Given the description of an element on the screen output the (x, y) to click on. 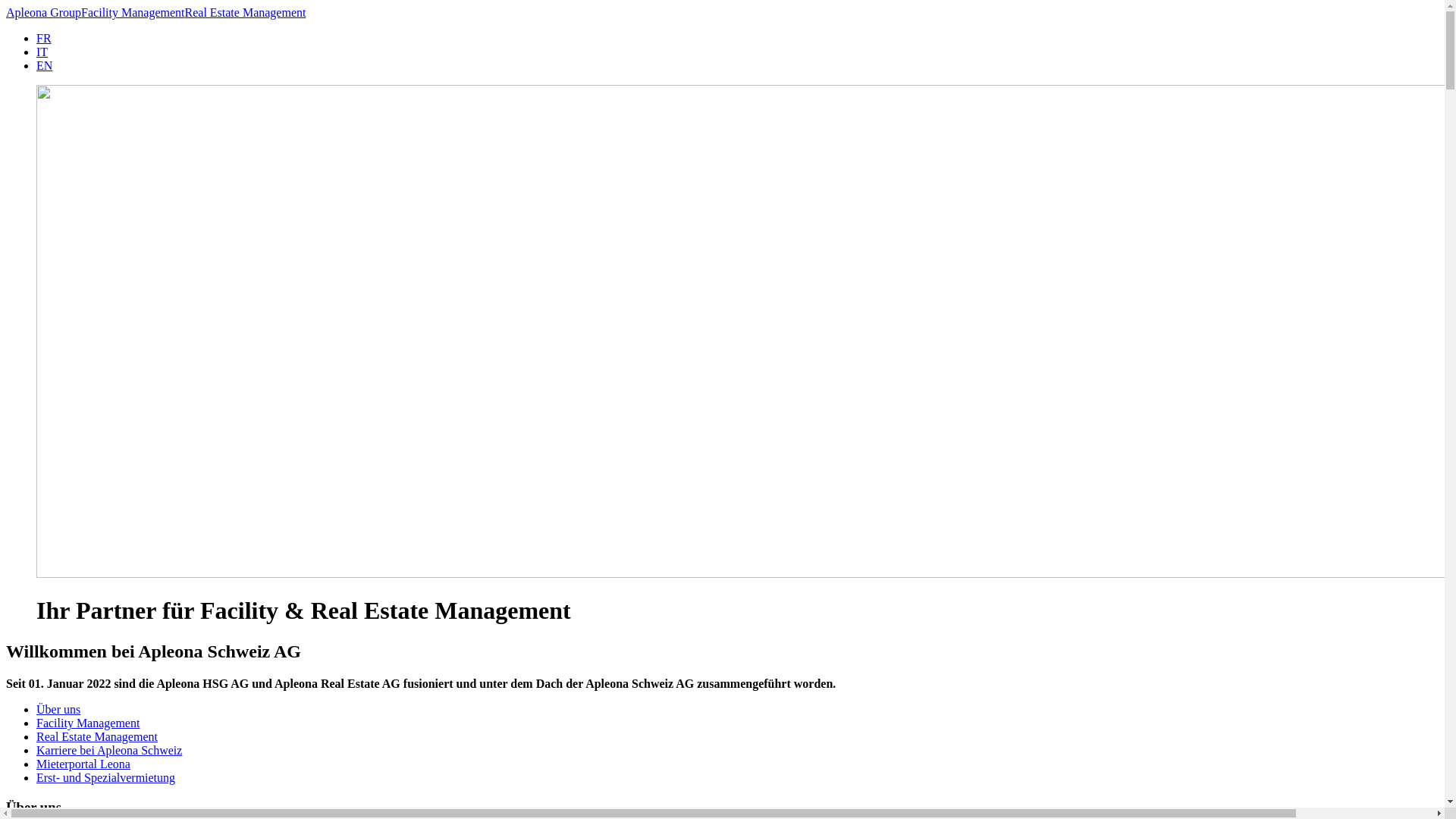
Apleona Group Element type: text (43, 12)
EN Element type: text (44, 65)
Facility Management Element type: text (132, 12)
Karriere bei Apleona Schweiz Element type: text (109, 749)
IT Element type: text (41, 51)
FR Element type: text (43, 37)
Mieterportal Leona Element type: text (83, 763)
Real Estate Management Element type: text (245, 12)
Facility Management Element type: text (87, 722)
Erst- und Spezialvermietung Element type: text (105, 777)
Real Estate Management Element type: text (96, 736)
